Given the description of an element on the screen output the (x, y) to click on. 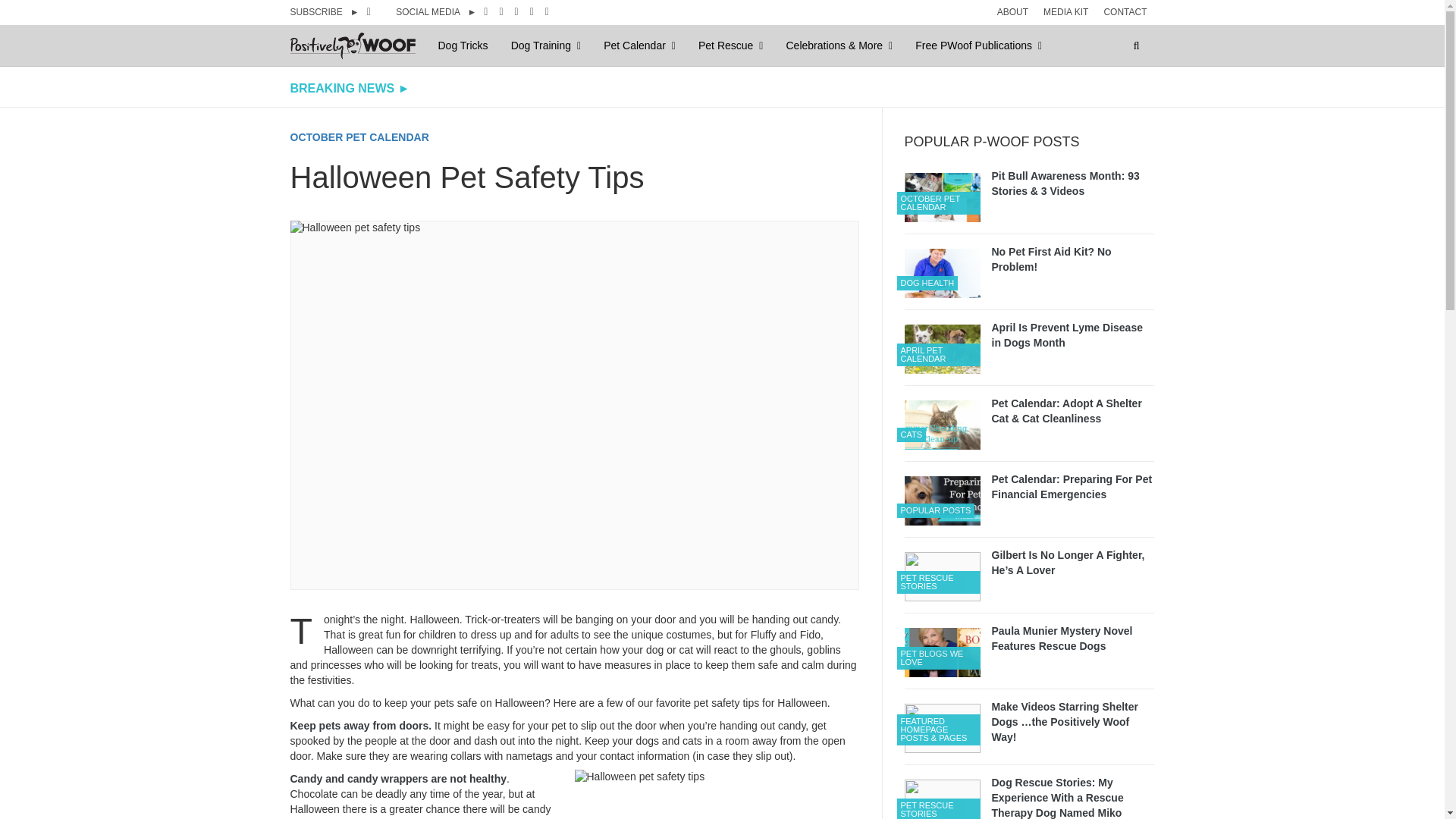
Dog Training (545, 45)
Dog Tricks (462, 45)
Pet Rescue (730, 45)
MEDIA KIT (1065, 11)
Dog Training (545, 45)
Newsletter (379, 11)
ABOUT (1012, 11)
Pet Calendar (639, 45)
Pet Calendar (639, 45)
CONTACT (1125, 11)
Dog Tricks (462, 45)
